Given the description of an element on the screen output the (x, y) to click on. 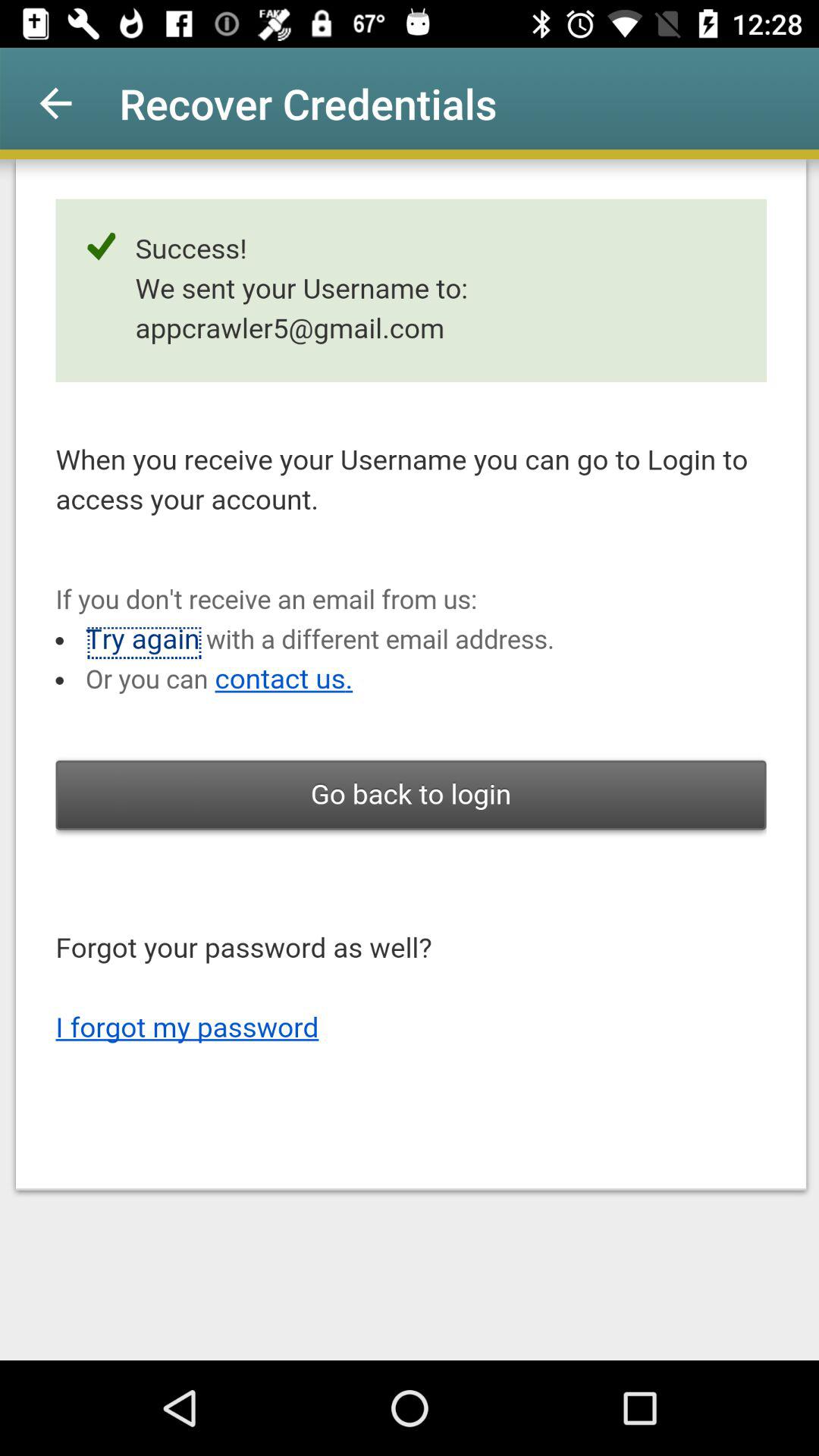
press icon to the left of recover credentials item (55, 103)
